Given the description of an element on the screen output the (x, y) to click on. 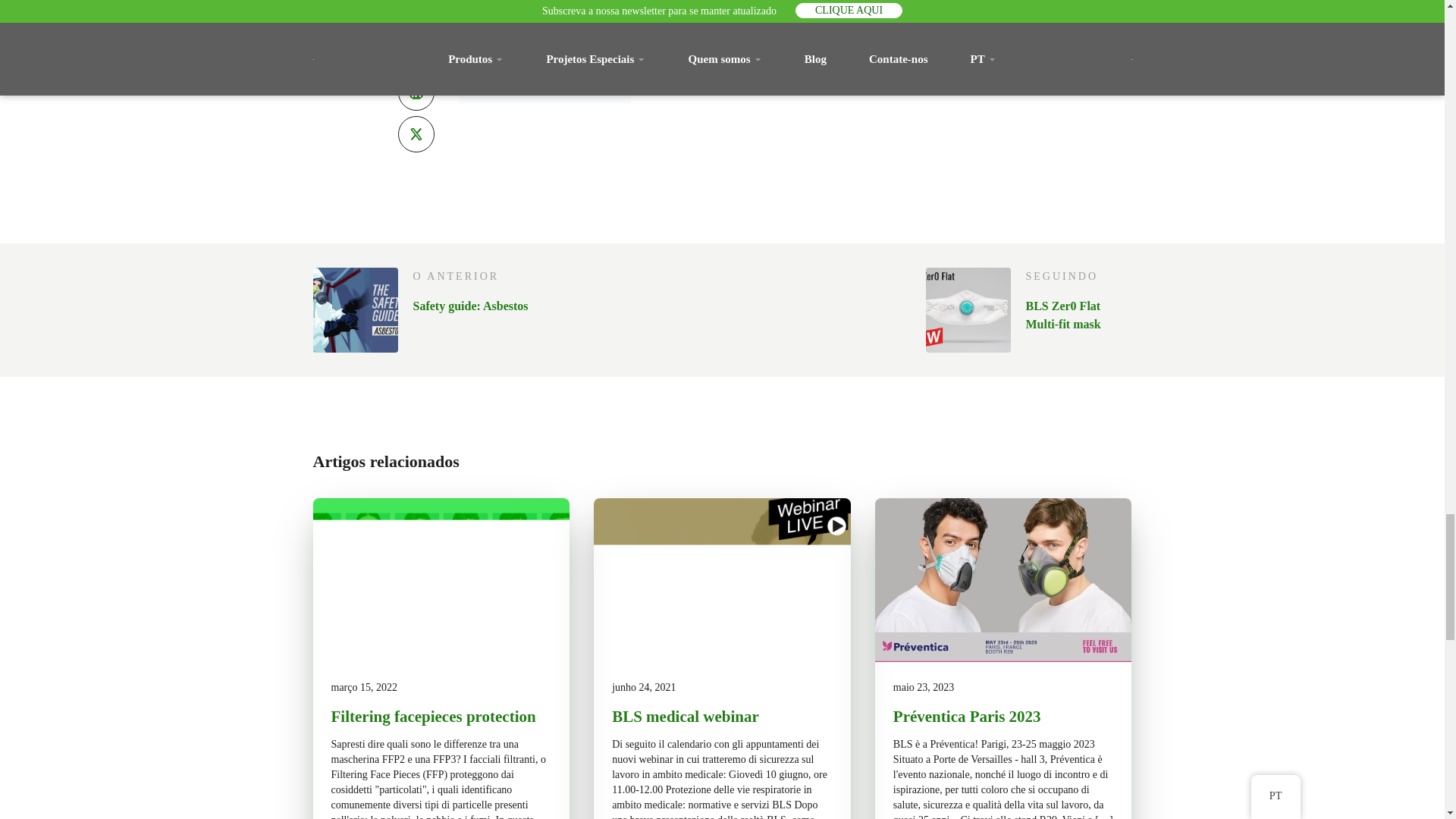
Filtering facepieces protection (440, 716)
Safety guide: Asbestos (469, 306)
BLS Zer0 Flat Multi-fit mask (1078, 315)
